Given the description of an element on the screen output the (x, y) to click on. 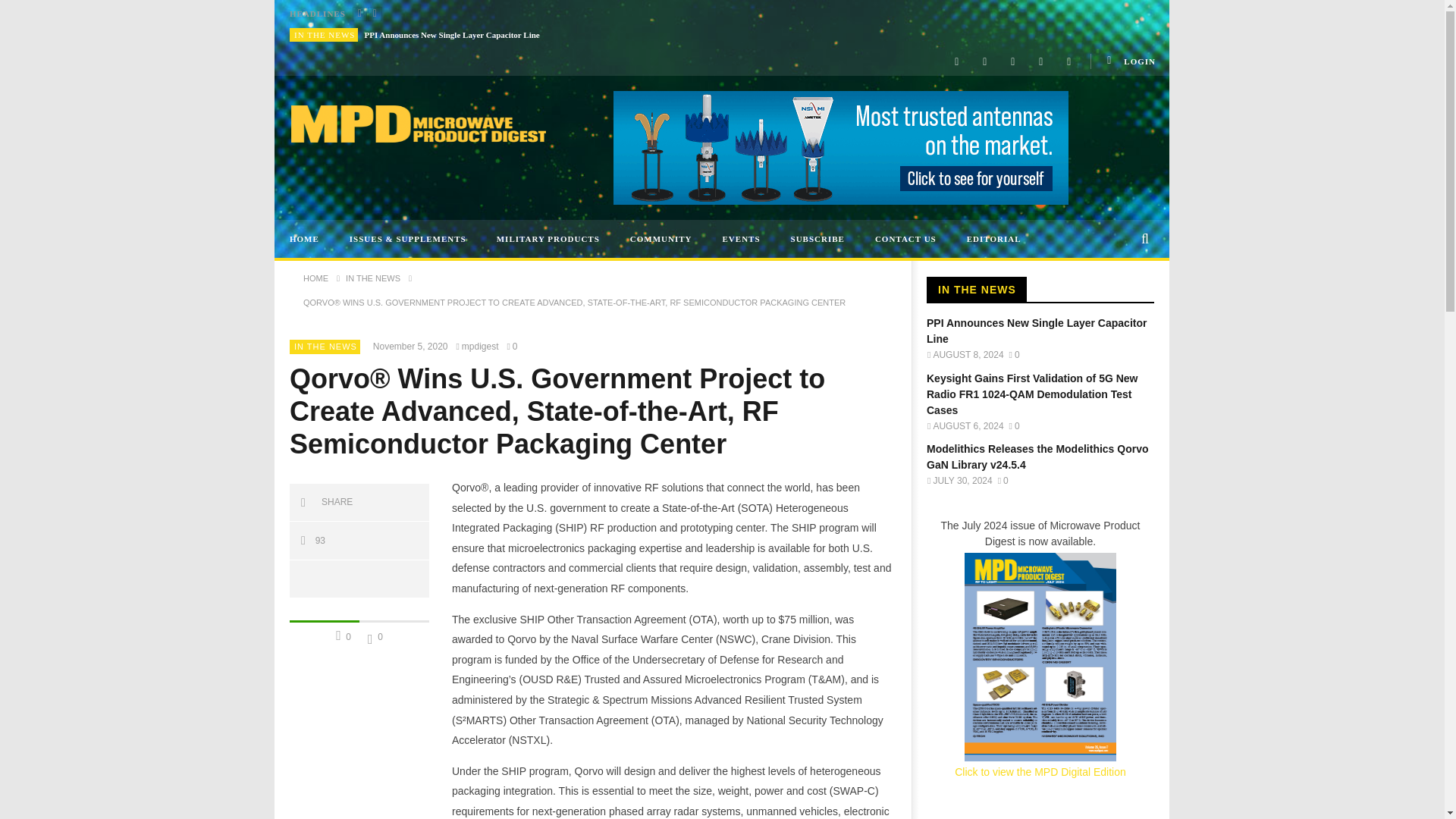
SUBSCRIBE (818, 238)
PPI Announces New Single Layer Capacitor Line (452, 34)
MILITARY PRODUCTS (547, 238)
CONTACT US (906, 238)
COMMUNITY (660, 238)
HOME (304, 238)
EDITORIAL (994, 238)
EVENTS (741, 238)
View all posts in In The News (324, 34)
